Given the description of an element on the screen output the (x, y) to click on. 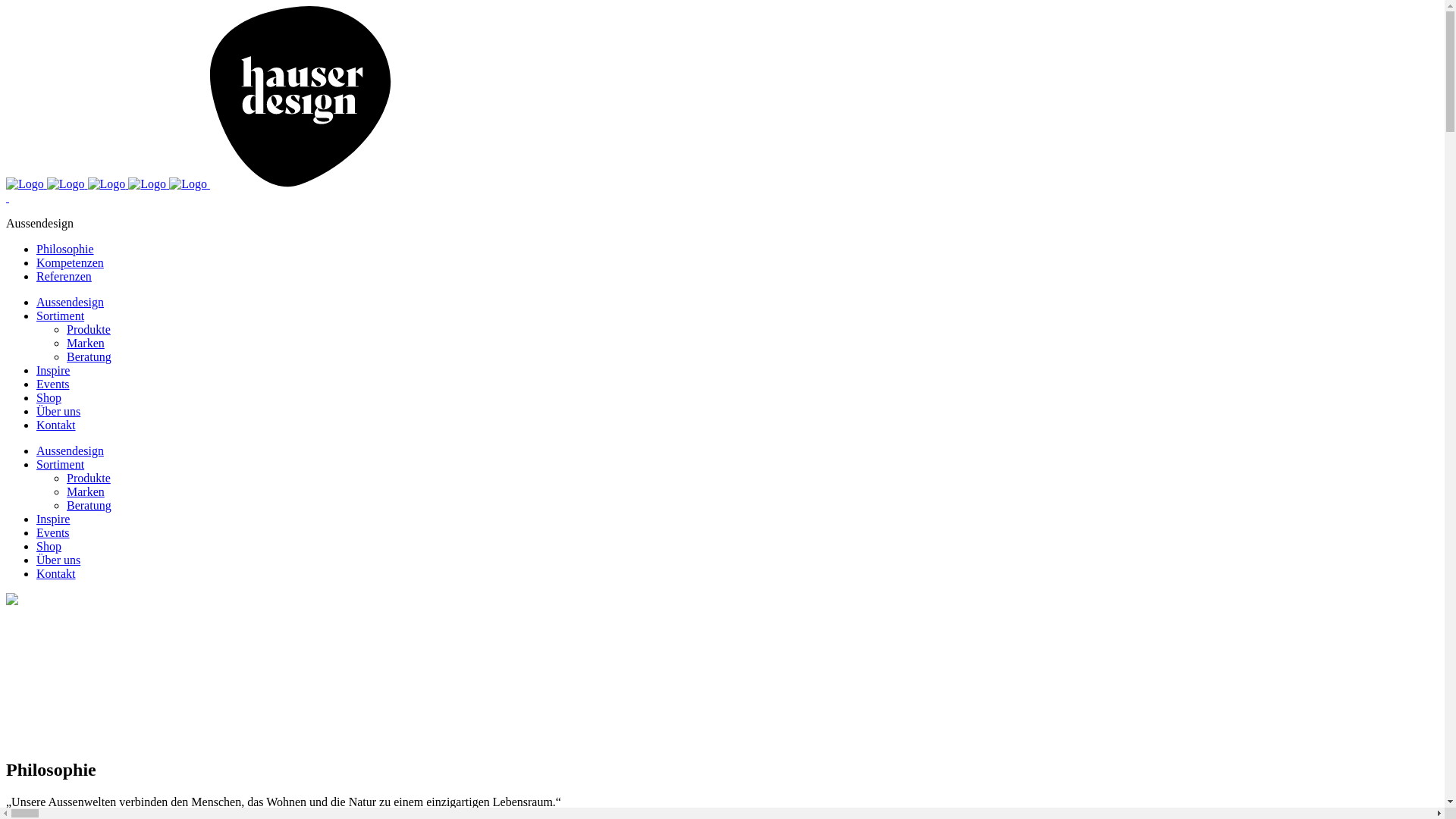
Inspire Element type: text (52, 370)
Shop Element type: text (48, 397)
Produkte Element type: text (88, 329)
Kontakt Element type: text (55, 424)
Sortiment Element type: text (60, 315)
  Element type: text (7, 197)
Inspire Element type: text (52, 518)
Referenzen Element type: text (63, 275)
Shop Element type: text (48, 545)
Sortiment Element type: text (60, 464)
Marken Element type: text (85, 491)
Aussendesign Element type: text (69, 450)
Philosophie Element type: text (65, 248)
Kontakt Element type: text (55, 573)
Kompetenzen Element type: text (69, 262)
Produkte Element type: text (88, 477)
Beratung Element type: text (88, 504)
Marken Element type: text (85, 342)
Beratung Element type: text (88, 356)
Aussendesign Element type: text (69, 301)
Events Element type: text (52, 383)
Events Element type: text (52, 532)
